Given the description of an element on the screen output the (x, y) to click on. 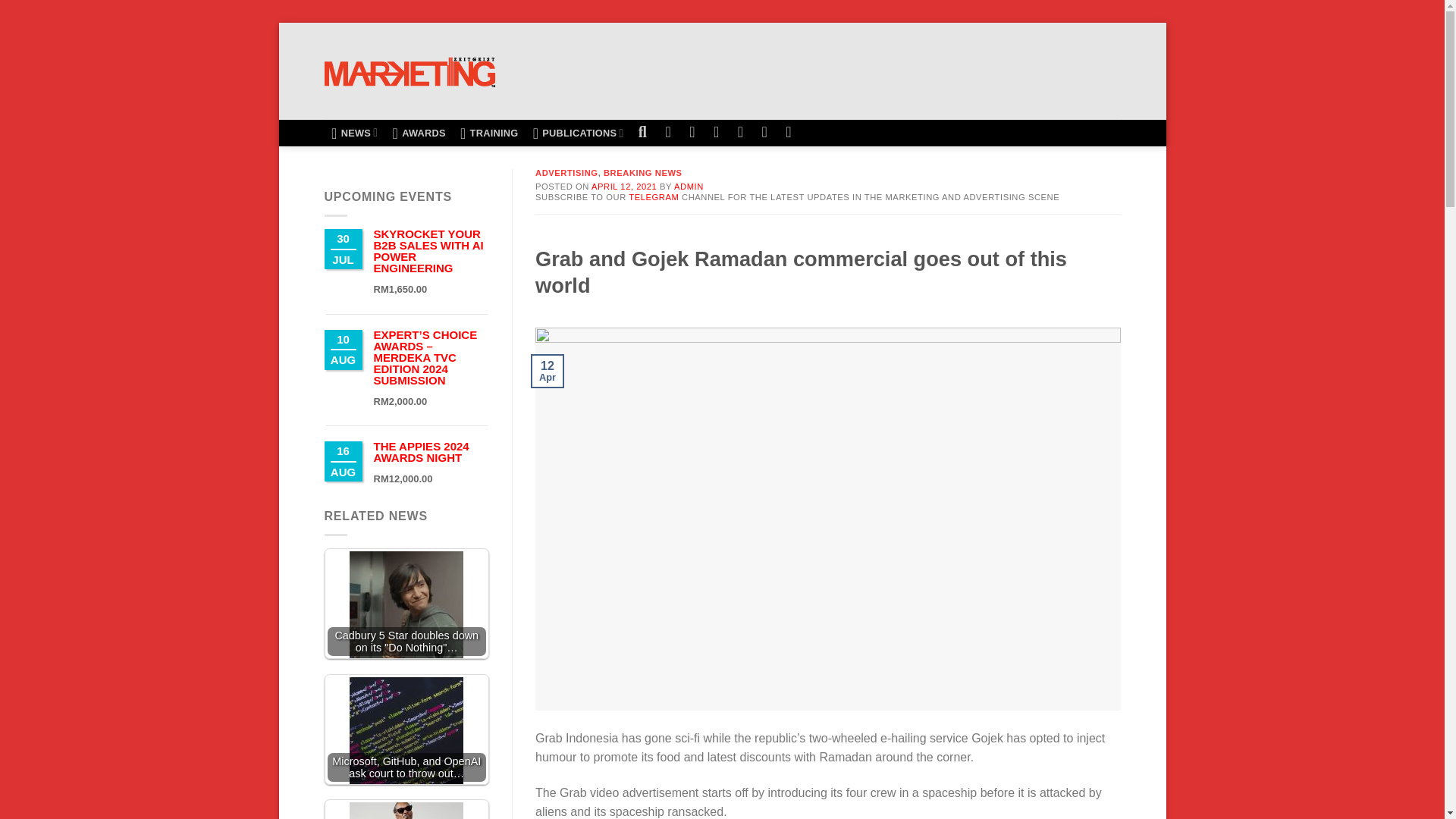
NEWS (354, 133)
SKYROCKET YOUR B2B SALES WITH AI POWER ENGINEERING (427, 250)
THE APPIES 2024 AWARDS NIGHT (420, 451)
PUBLICATIONS (577, 133)
SKYROCKET YOUR B2B SALES WITH AI POWER ENGINEERING (427, 250)
AWARDS (418, 133)
TRAINING (488, 133)
The APPIES 2024 Awards Night (420, 451)
